Given the description of an element on the screen output the (x, y) to click on. 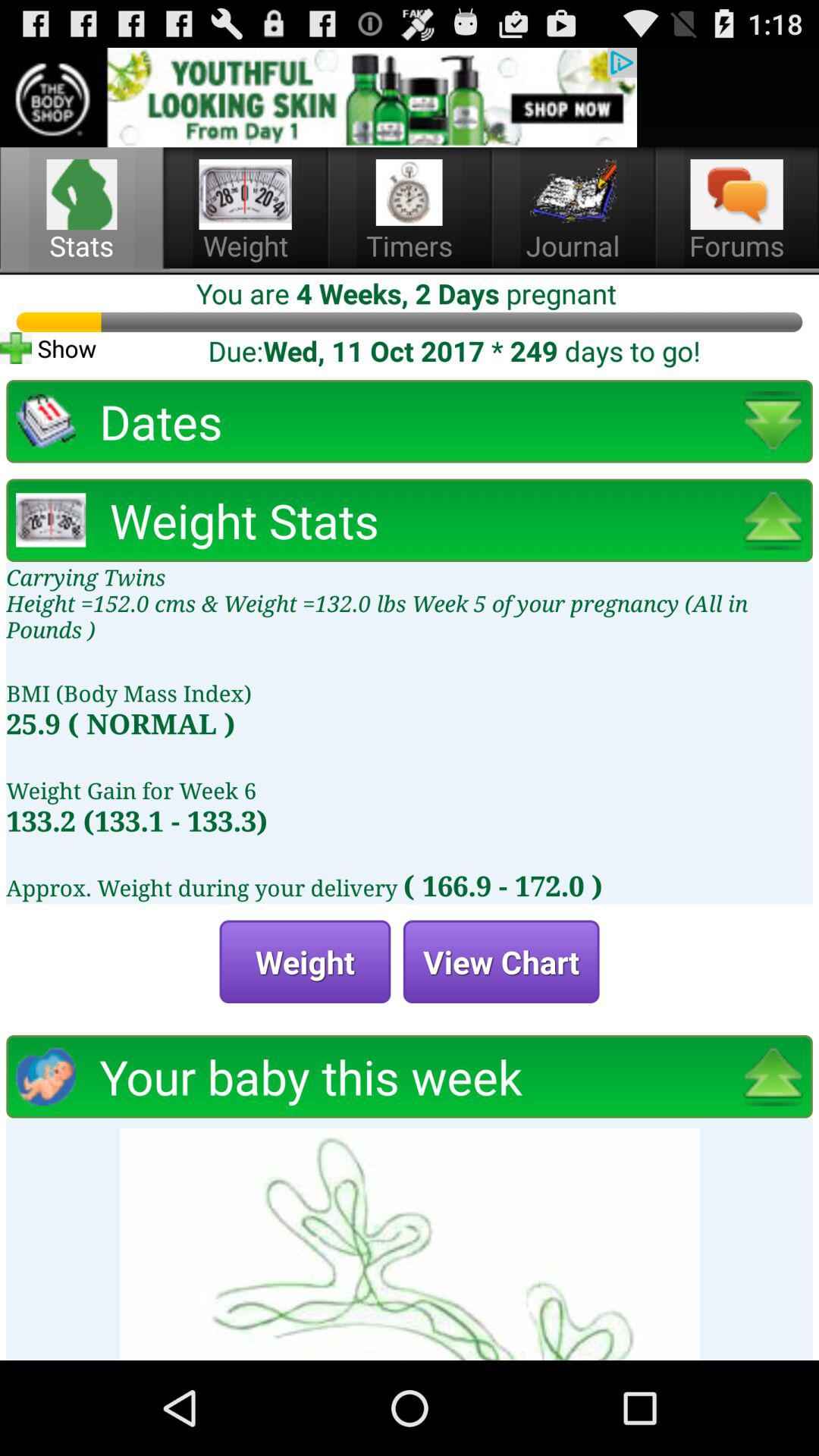
advertisement option (318, 97)
